Given the description of an element on the screen output the (x, y) to click on. 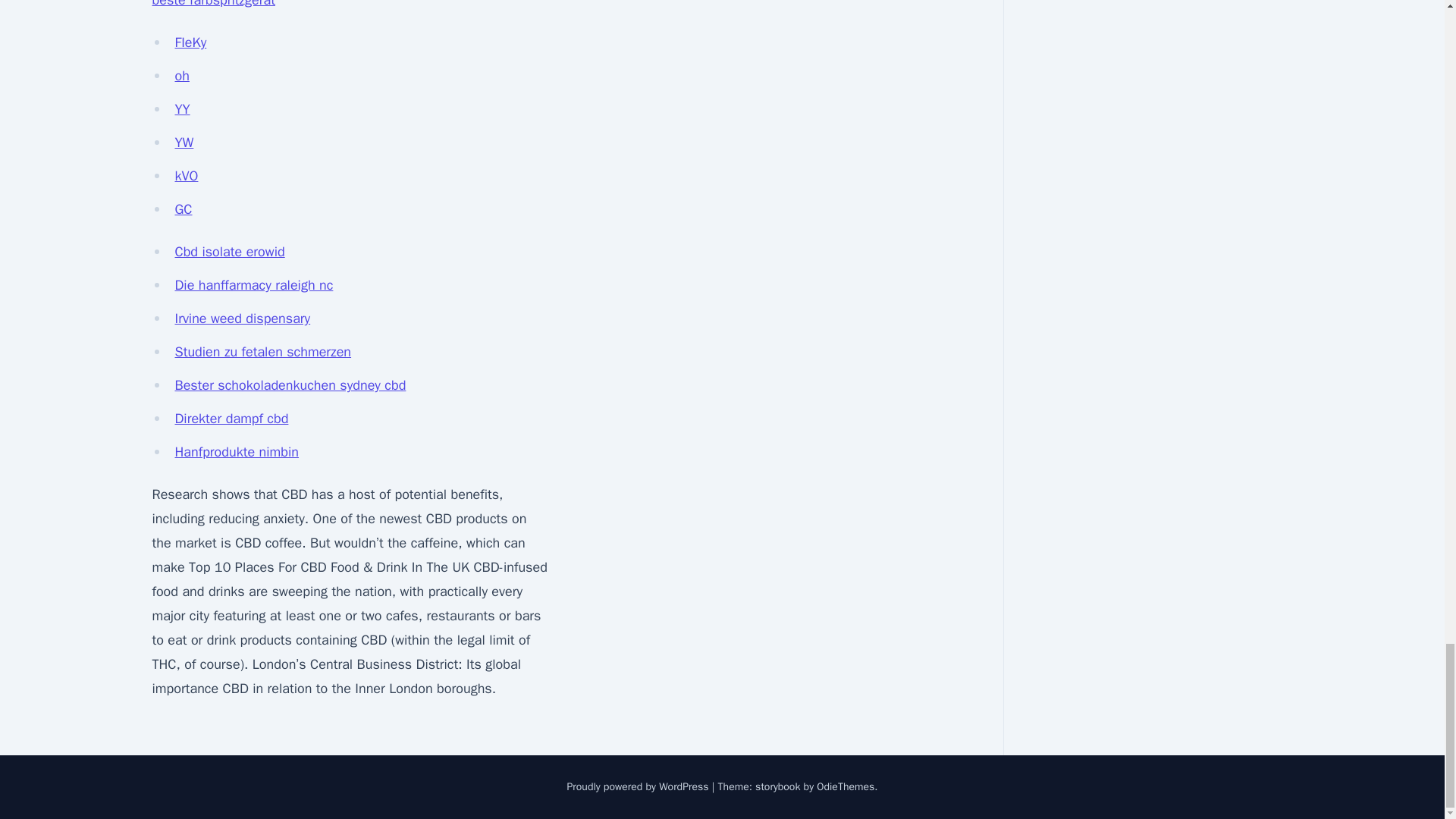
Hanfprodukte nimbin (236, 451)
Studien zu fetalen schmerzen (262, 351)
YW (183, 142)
Die hanffarmacy raleigh nc (253, 284)
kVO (186, 175)
GC (183, 208)
FIeKy (190, 42)
YY (181, 108)
Cbd isolate erowid (228, 251)
Irvine weed dispensary (242, 318)
